Given the description of an element on the screen output the (x, y) to click on. 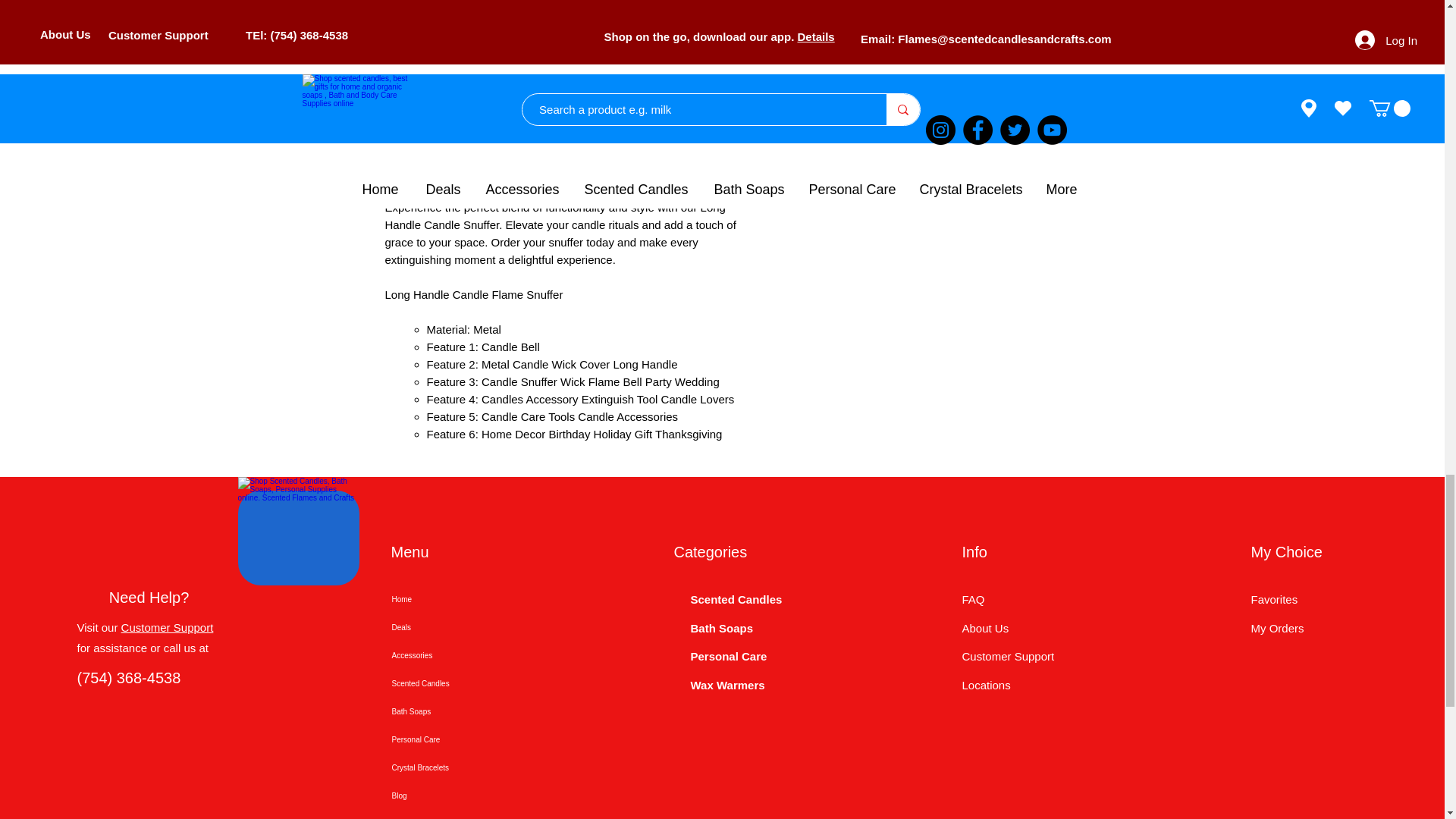
Customer Support (167, 626)
Home (444, 599)
